Given the description of an element on the screen output the (x, y) to click on. 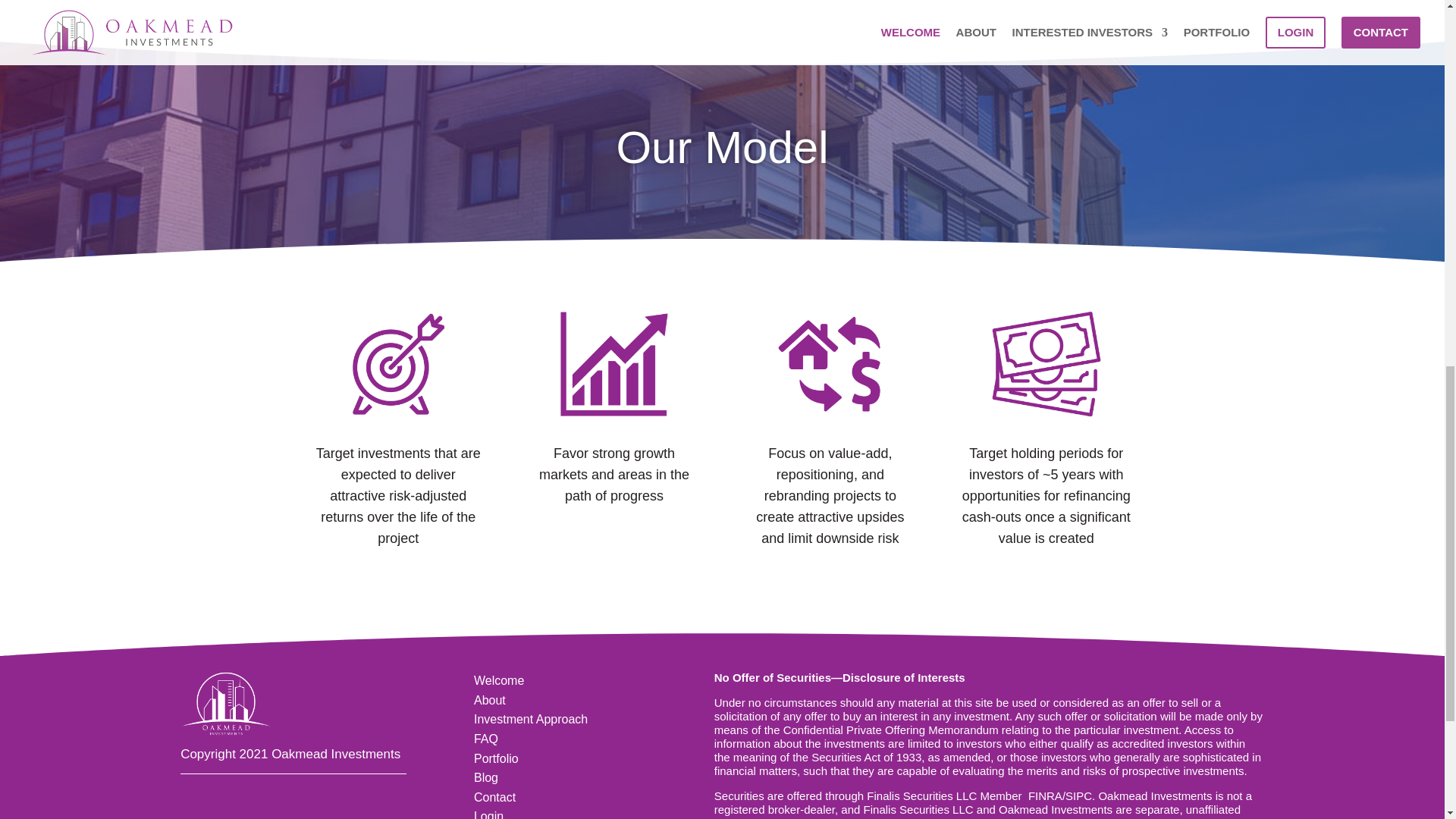
Welcome (499, 680)
FAQ (485, 738)
Portfolio (496, 758)
Investment Approach (531, 718)
Blog (485, 777)
Oakmead Investments (1154, 795)
About (489, 699)
Oakmead Investments (1154, 795)
Contact (494, 797)
Login (488, 814)
